Given the description of an element on the screen output the (x, y) to click on. 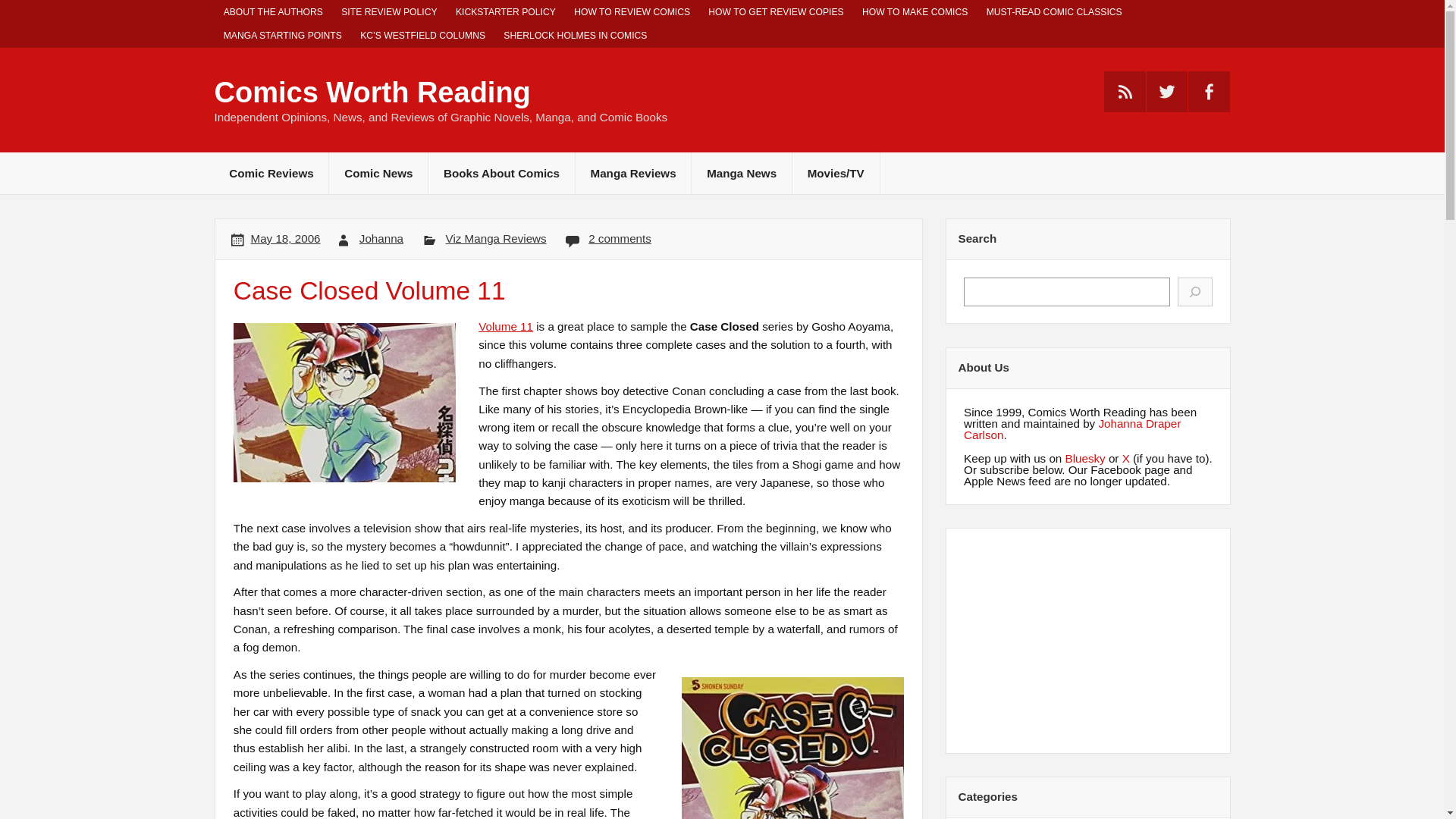
MUST-READ COMIC CLASSICS (1053, 12)
Viz Manga Reviews (496, 237)
Manga News (741, 173)
MANGA STARTING POINTS (282, 36)
Comic Reviews (271, 173)
Books About Comics (501, 173)
SITE REVIEW POLICY (388, 12)
SHERLOCK HOLMES IN COMICS (575, 36)
May 18, 2006 (285, 237)
2 comments (619, 237)
